Given the description of an element on the screen output the (x, y) to click on. 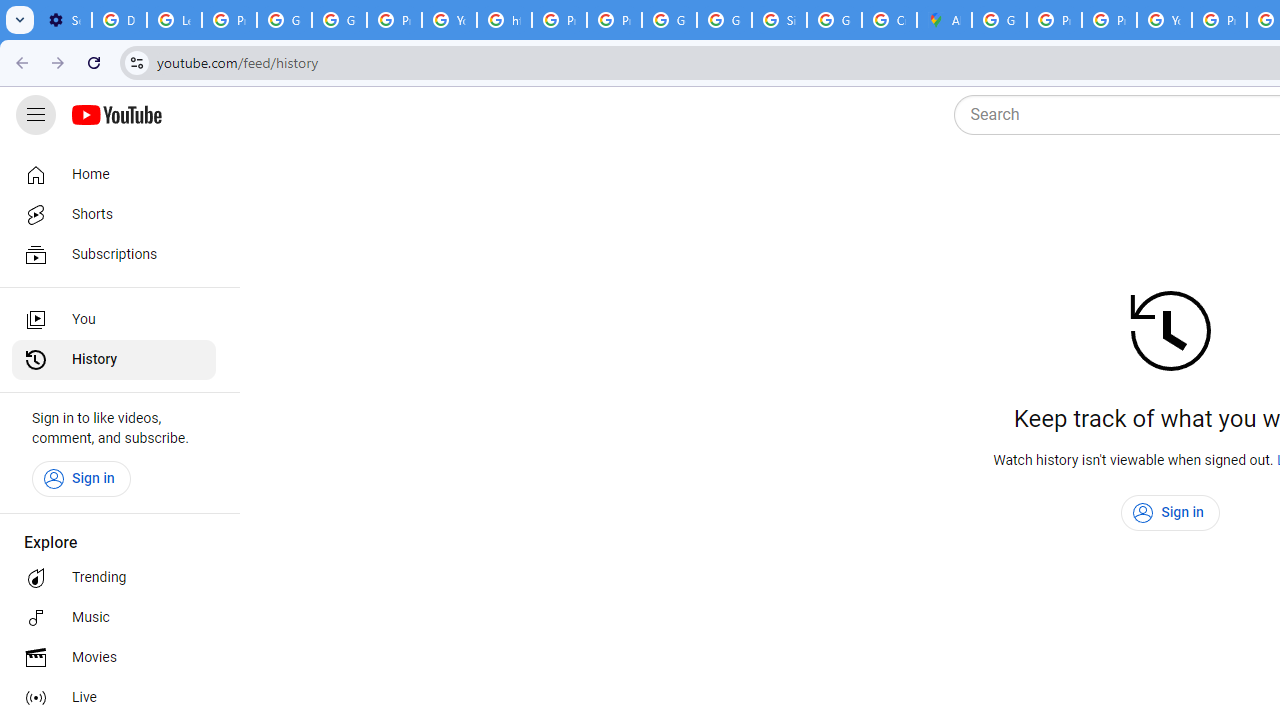
Shorts (113, 214)
YouTube (449, 20)
History (113, 359)
Home (113, 174)
Trending (113, 578)
Privacy Help Center - Policies Help (1108, 20)
Live (113, 697)
Privacy Help Center - Policies Help (1053, 20)
